Given the description of an element on the screen output the (x, y) to click on. 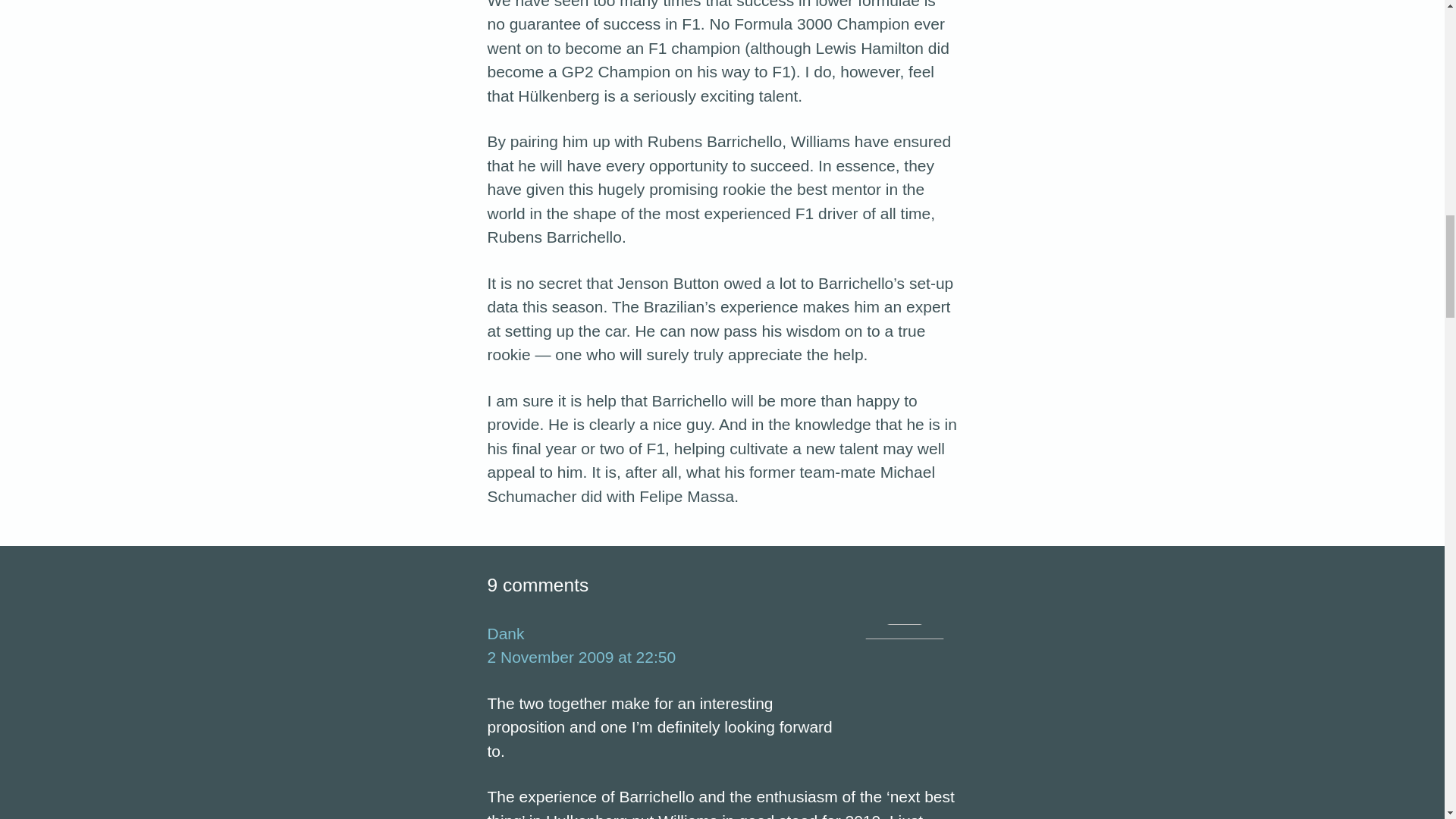
Dank (505, 633)
2 November 2009 at 22:50 (580, 656)
